Given the description of an element on the screen output the (x, y) to click on. 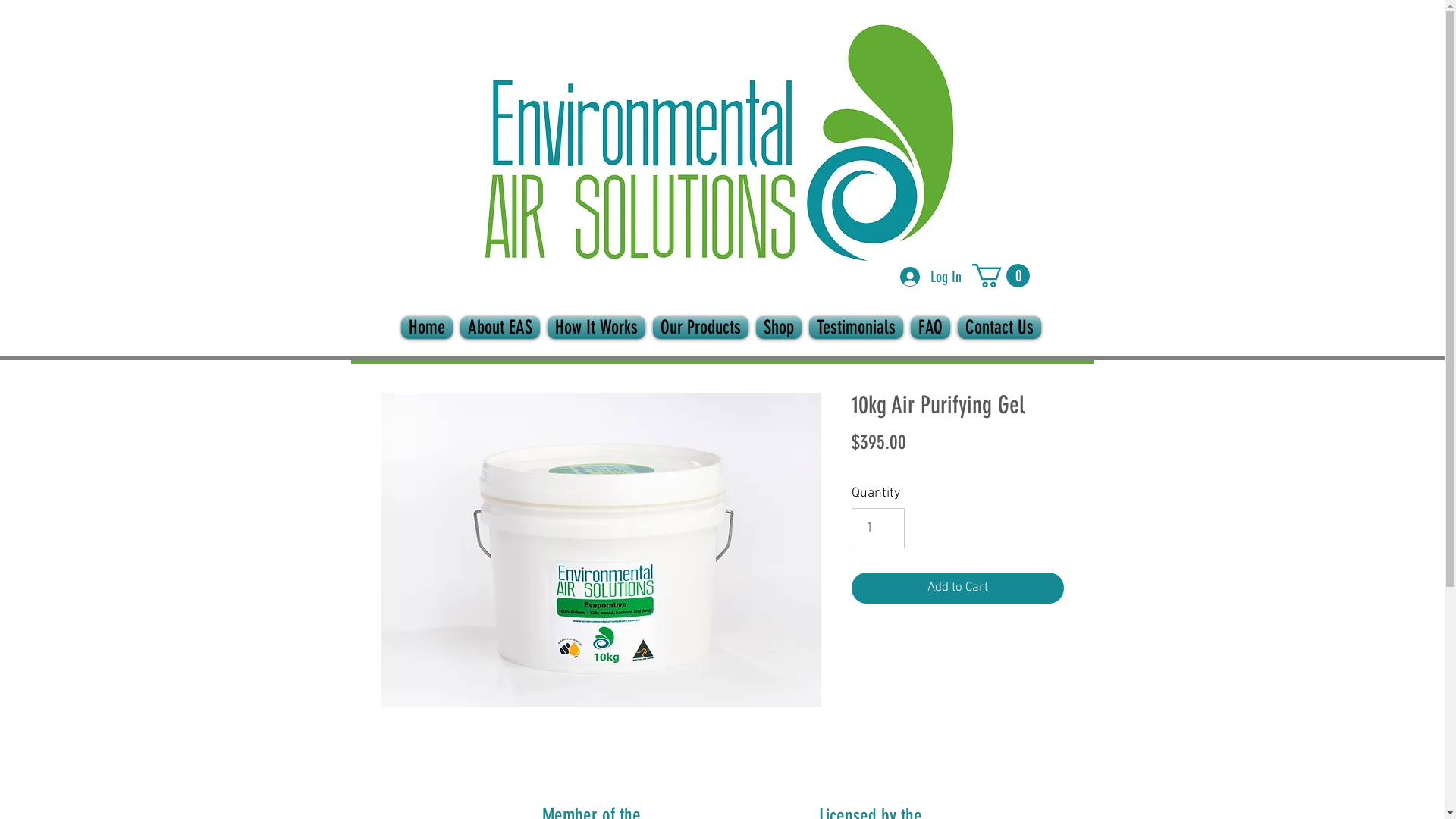
FAQ Element type: text (929, 327)
How It Works Element type: text (596, 327)
Shop Element type: text (778, 327)
Home Element type: text (426, 327)
Log In Element type: text (930, 276)
About EAS Element type: text (499, 327)
Testimonials Element type: text (855, 327)
0 Element type: text (1000, 275)
Our Products Element type: text (700, 327)
Add to Cart Element type: text (956, 588)
Contact Us Element type: text (998, 327)
